Given the description of an element on the screen output the (x, y) to click on. 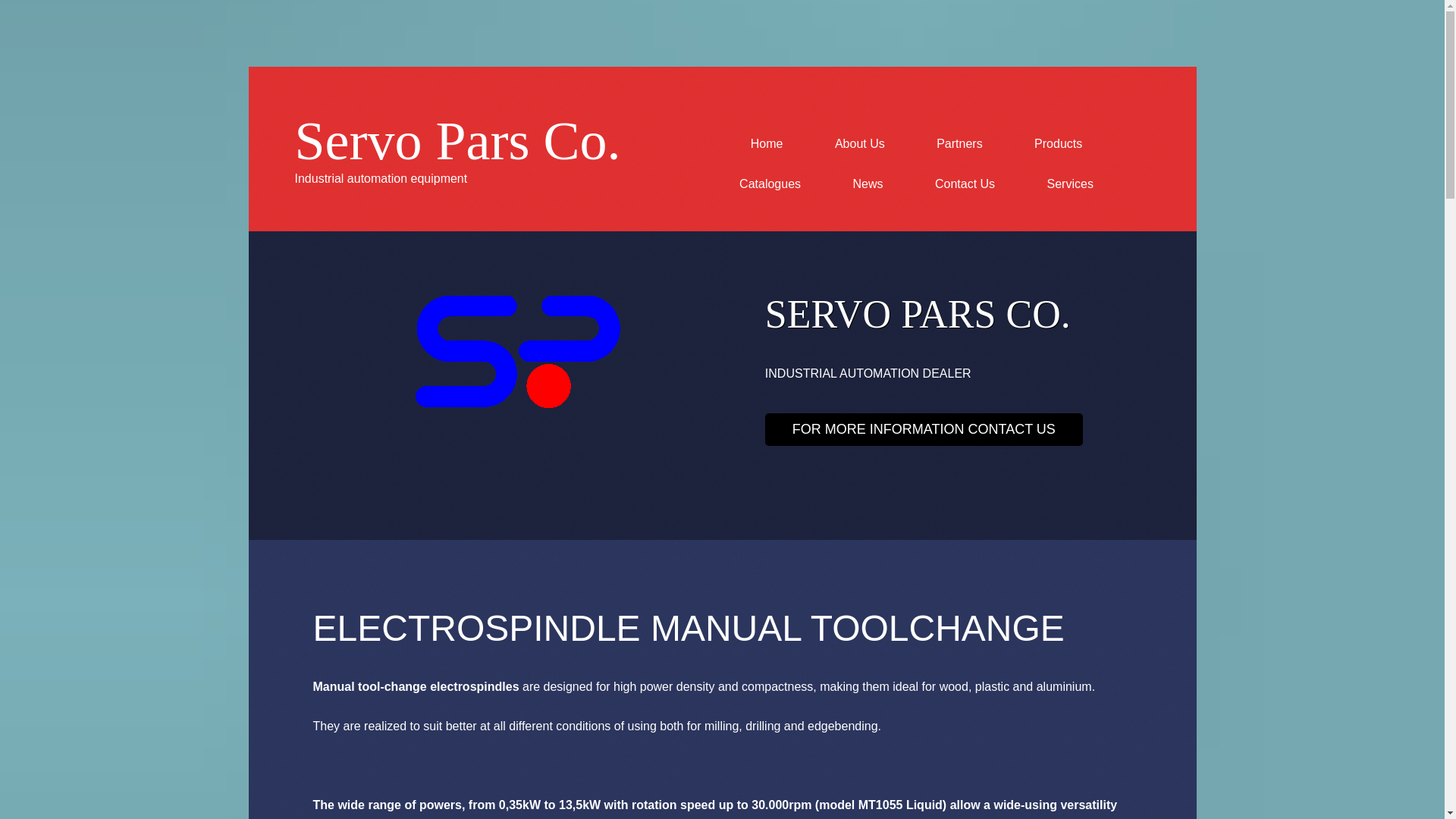
Services (1069, 183)
Products (1057, 143)
Contact Us (964, 183)
About Us (859, 143)
Home (767, 143)
Partners (958, 143)
Catalogues (769, 183)
Servo Pars Co. (457, 140)
Servo Pars Co. (457, 140)
News (866, 183)
